Given the description of an element on the screen output the (x, y) to click on. 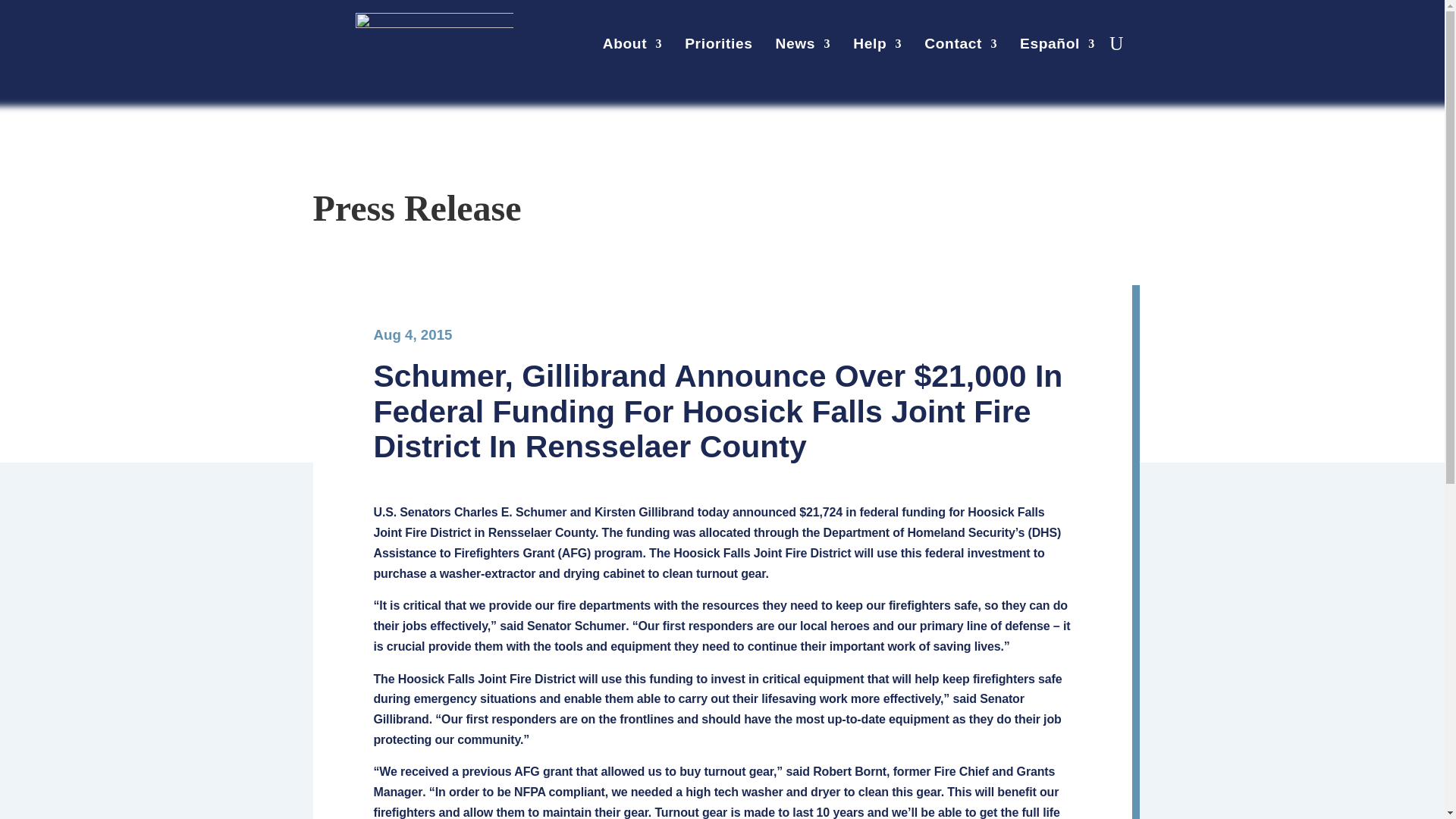
About (632, 46)
Priorities (718, 46)
News (803, 46)
Contact (960, 46)
gillibrand-logo (434, 43)
Help (877, 46)
